Given the description of an element on the screen output the (x, y) to click on. 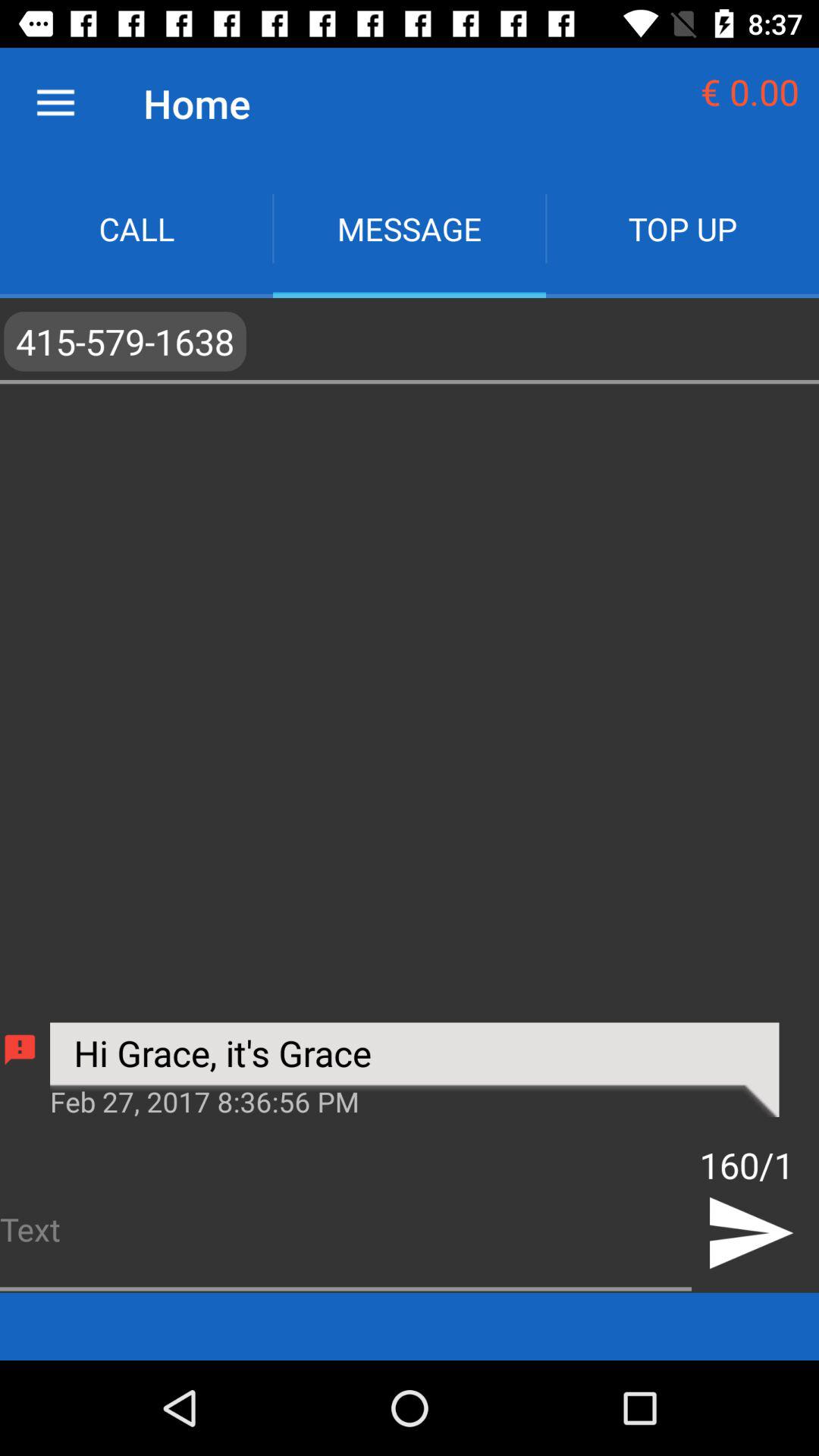
select the item below 160/1 item (749, 1232)
